Given the description of an element on the screen output the (x, y) to click on. 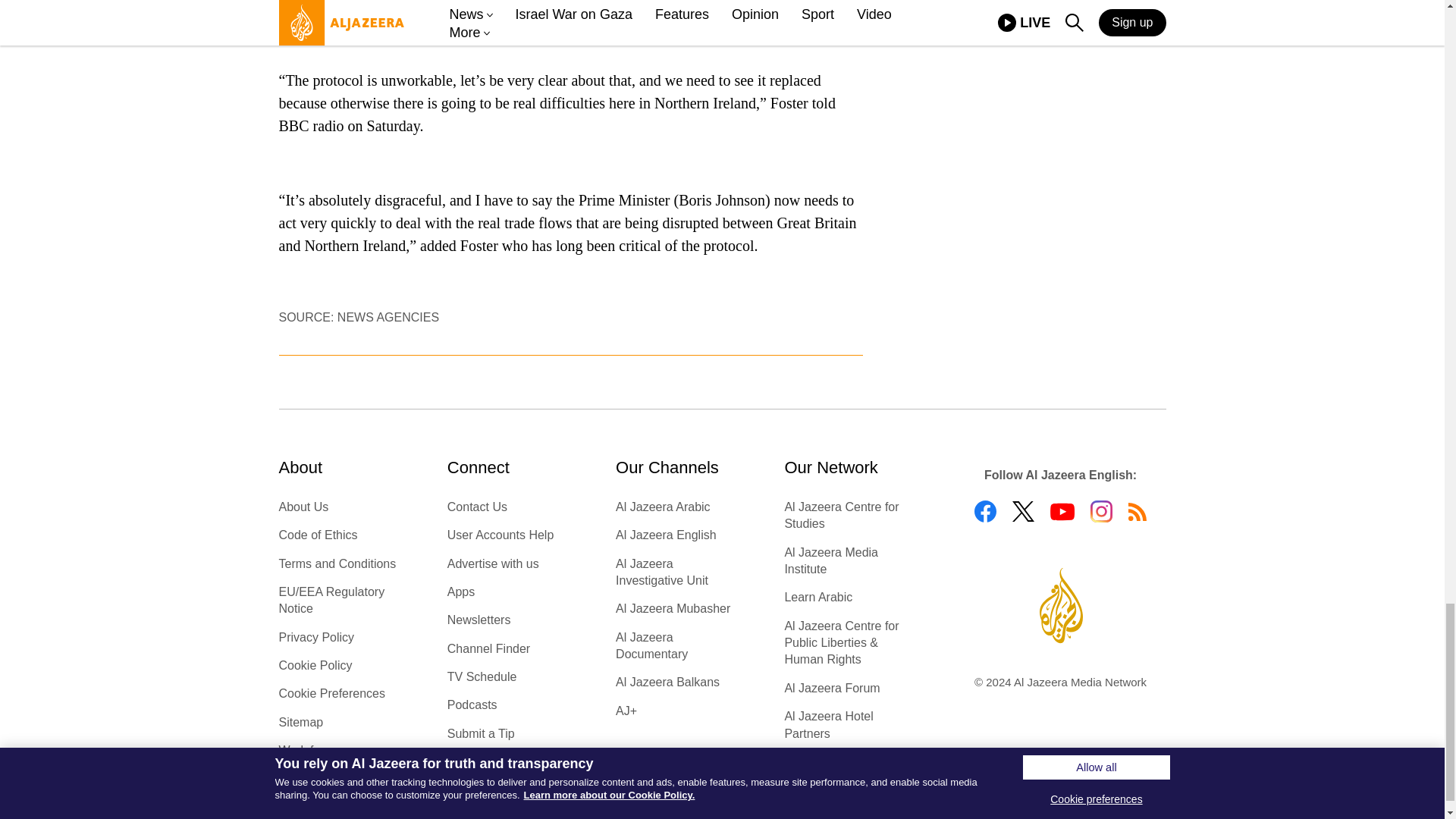
facebook (984, 511)
instagram-colored-outline (1101, 511)
twitter (1022, 511)
youtube (1061, 511)
rss (1137, 511)
